Given the description of an element on the screen output the (x, y) to click on. 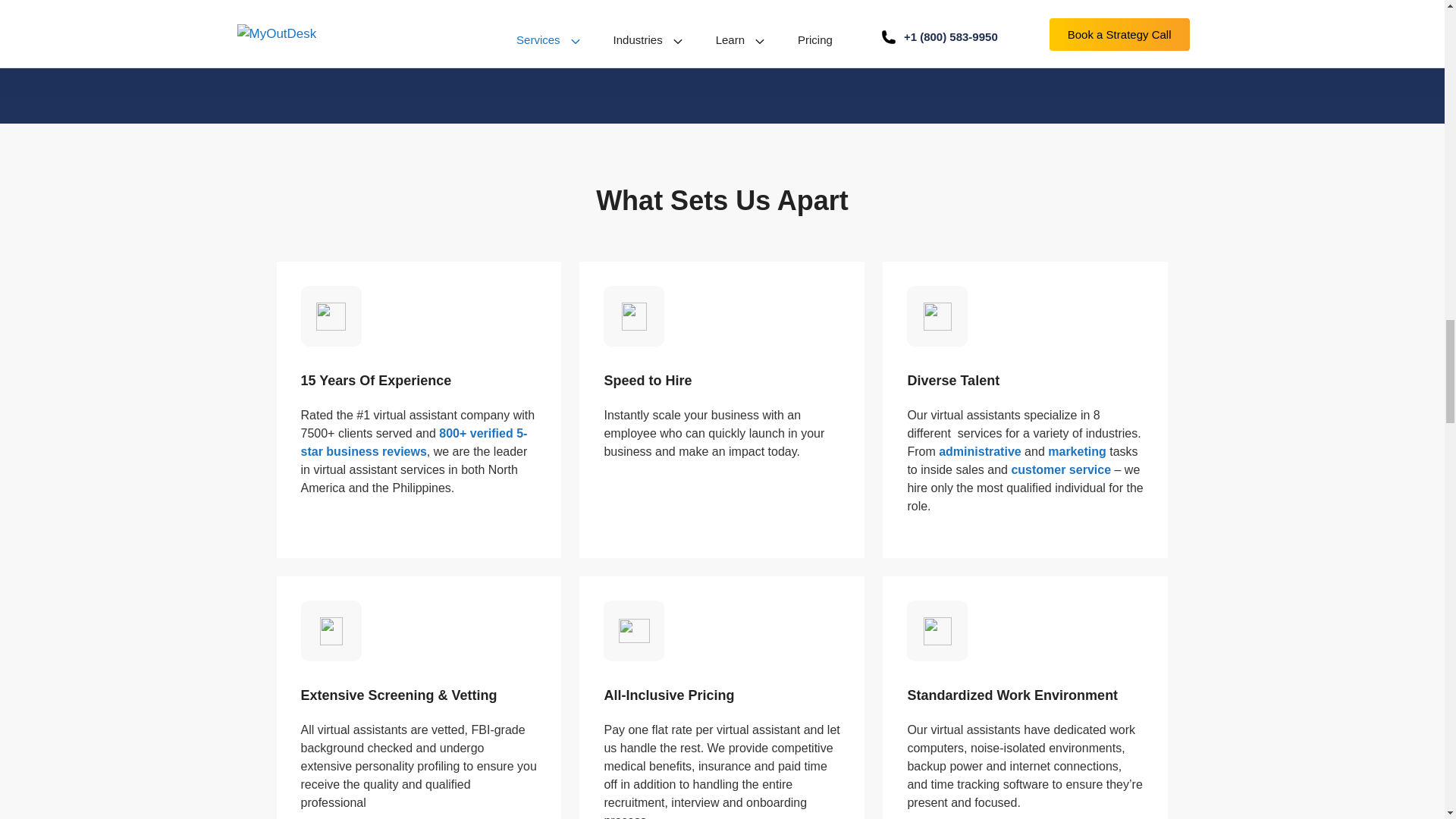
icon-globe (937, 631)
image-1 (633, 316)
image-2 (633, 630)
007-verify (330, 316)
icon-people-circle (937, 316)
